Given the description of an element on the screen output the (x, y) to click on. 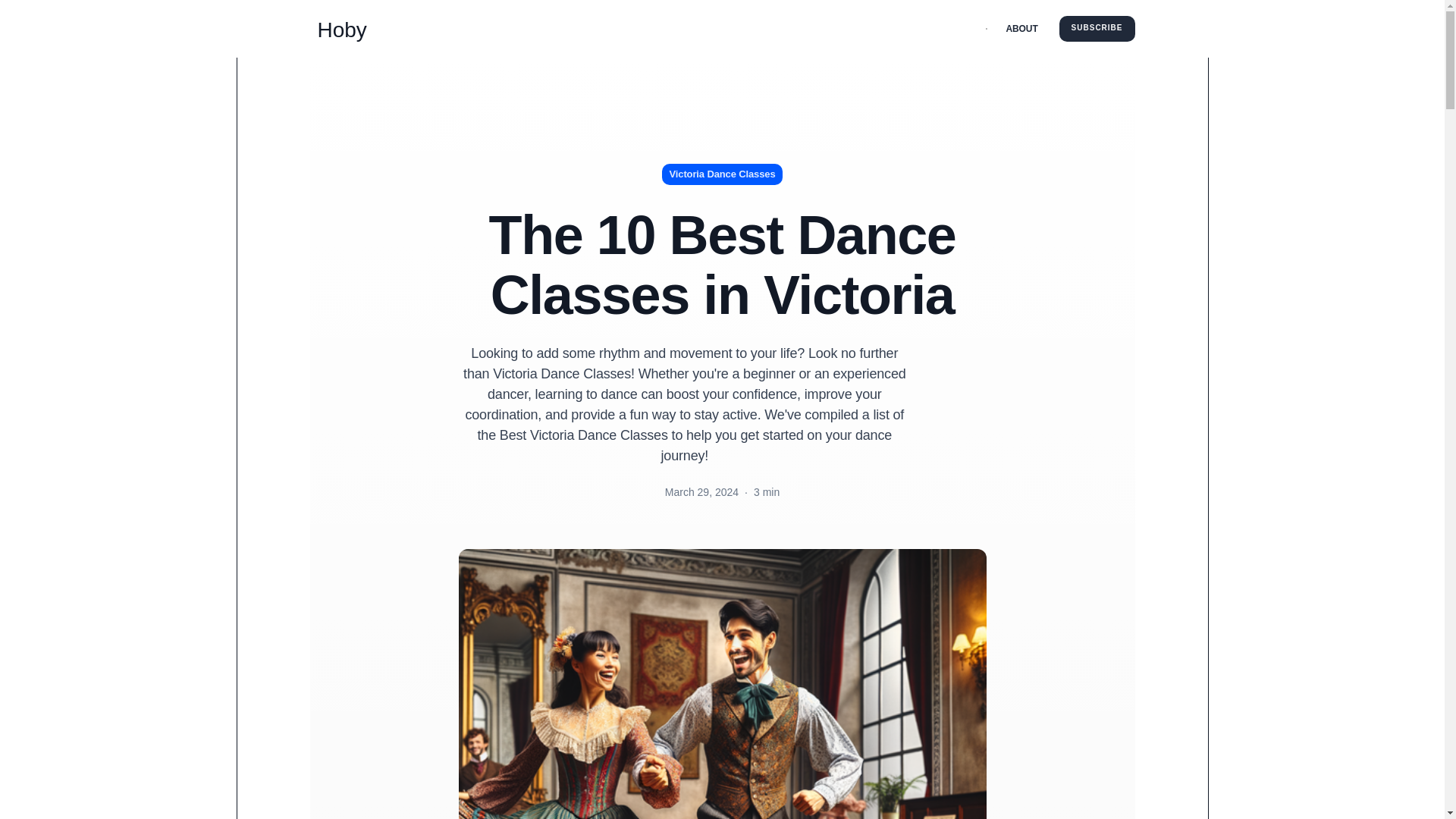
SUBSCRIBE (1097, 28)
Hoby (337, 28)
Victoria Dance Classes (722, 174)
ABOUT (1021, 28)
